Given the description of an element on the screen output the (x, y) to click on. 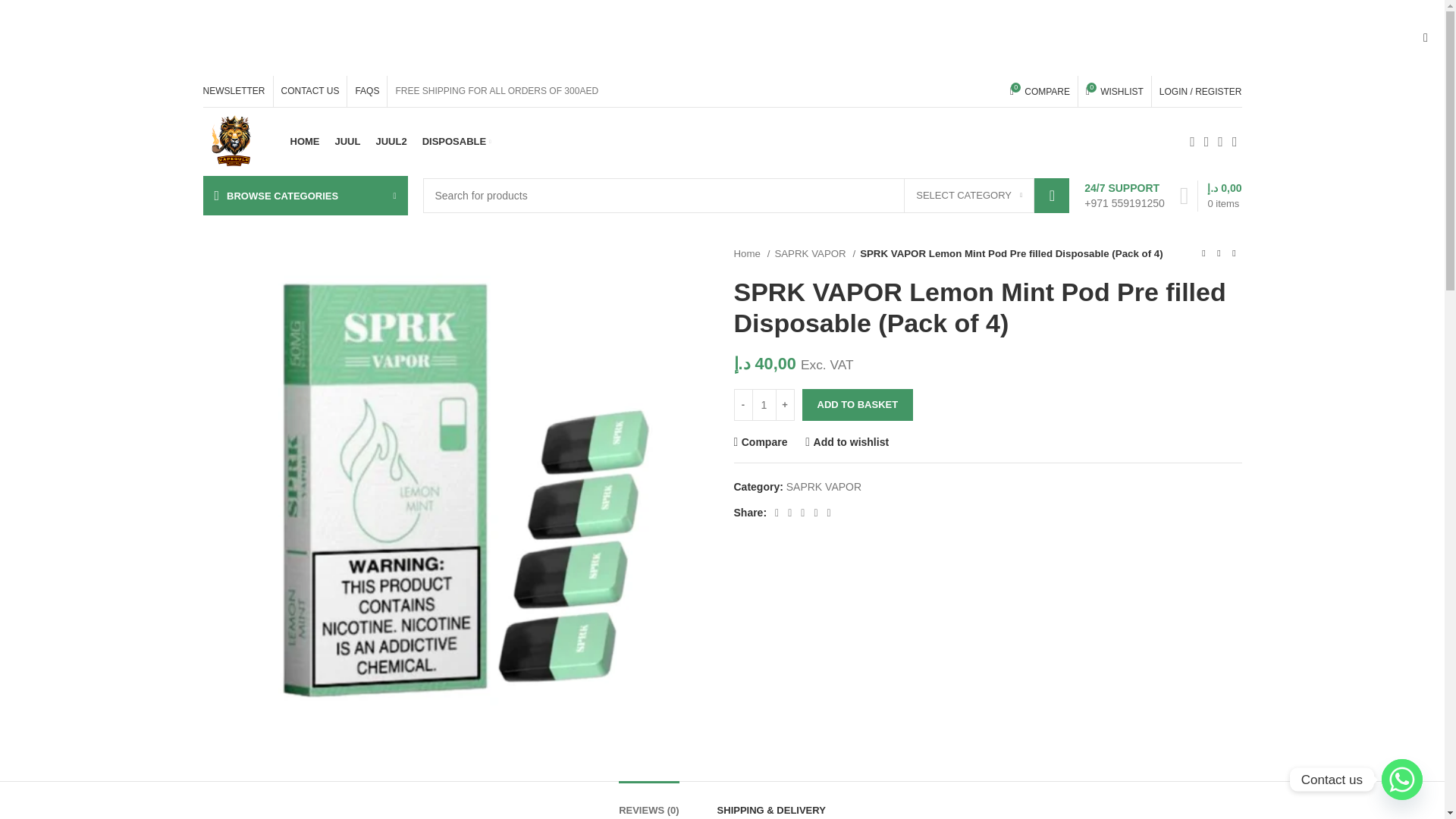
Shopping cart (1210, 195)
CONTACT US (310, 91)
- (742, 404)
SELECT CATEGORY (1114, 91)
My account (968, 195)
JUUL (1200, 91)
My Wishlist (347, 141)
SELECT CATEGORY (1114, 91)
HOME (968, 195)
1 (303, 141)
NEWSLETTER (763, 404)
Compare products (233, 91)
DISPOSABLE (1040, 91)
